Given the description of an element on the screen output the (x, y) to click on. 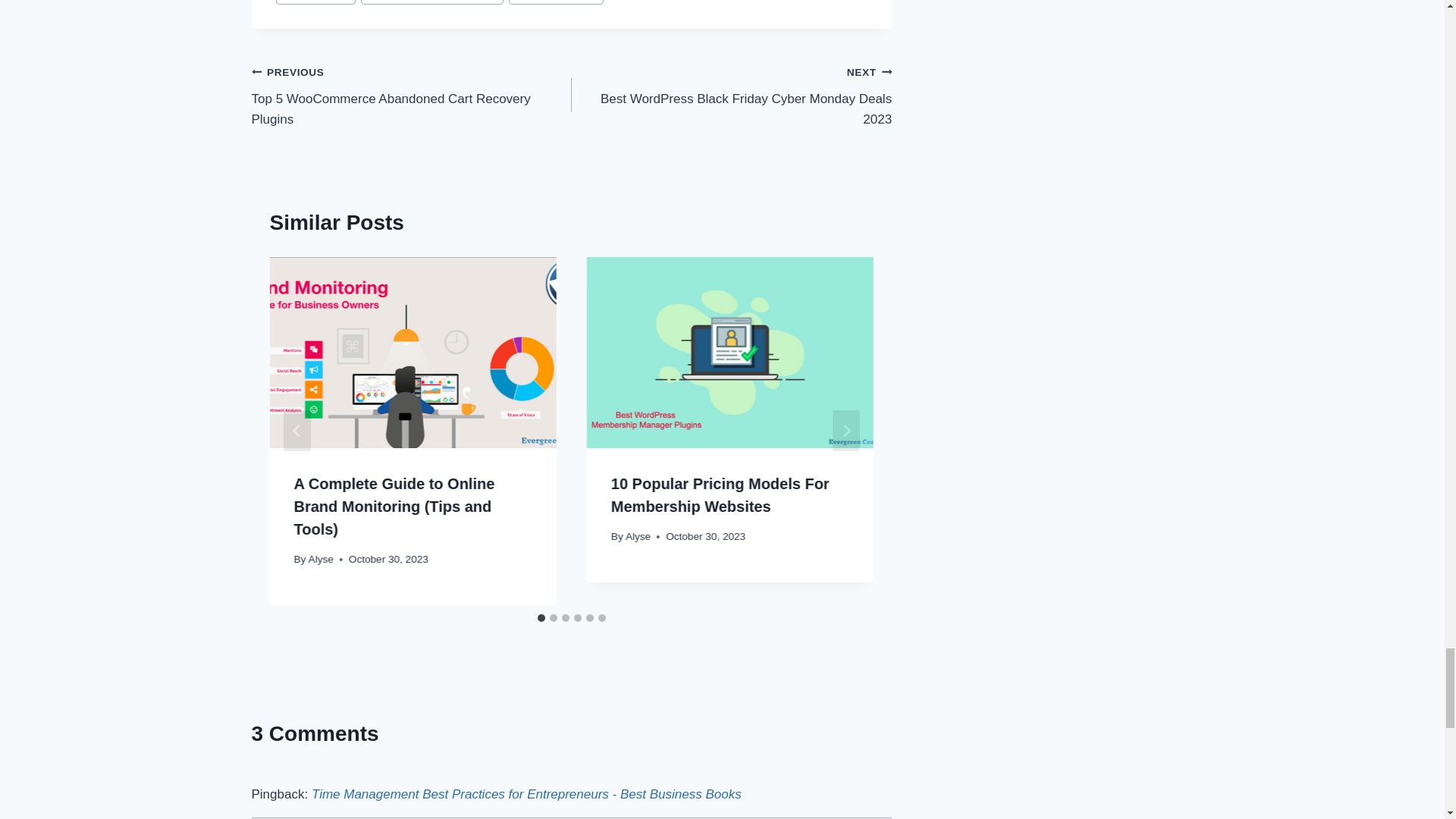
business skill (316, 2)
business skill development (411, 95)
skill for business (731, 95)
